Given the description of an element on the screen output the (x, y) to click on. 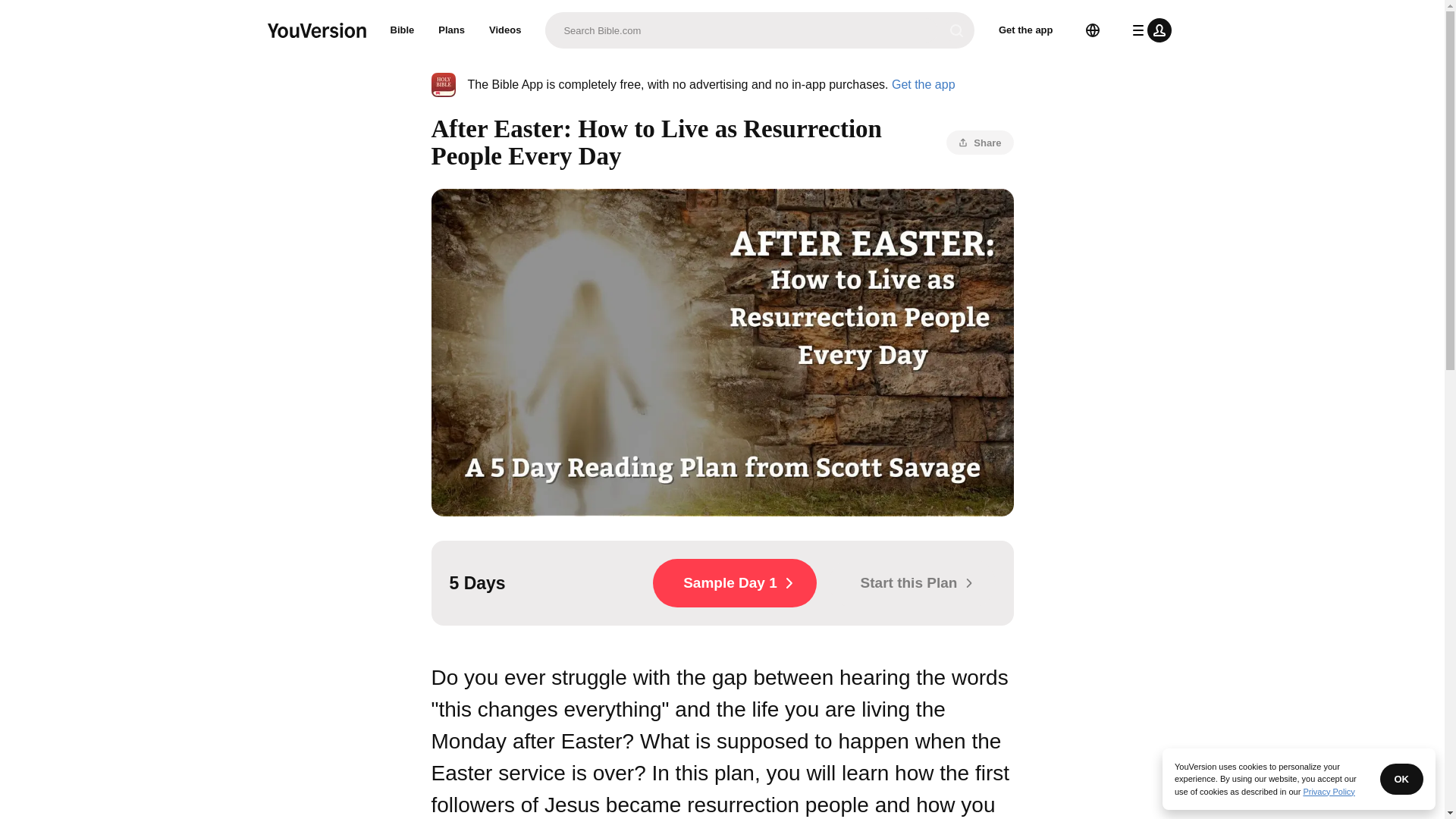
Start this Plan (911, 582)
Videos (504, 29)
Plans (451, 29)
Share (979, 142)
Get the app (923, 83)
Get the app (1026, 29)
Sample Day 1 (734, 582)
Bible (401, 29)
Bible Icon (442, 84)
